Given the description of an element on the screen output the (x, y) to click on. 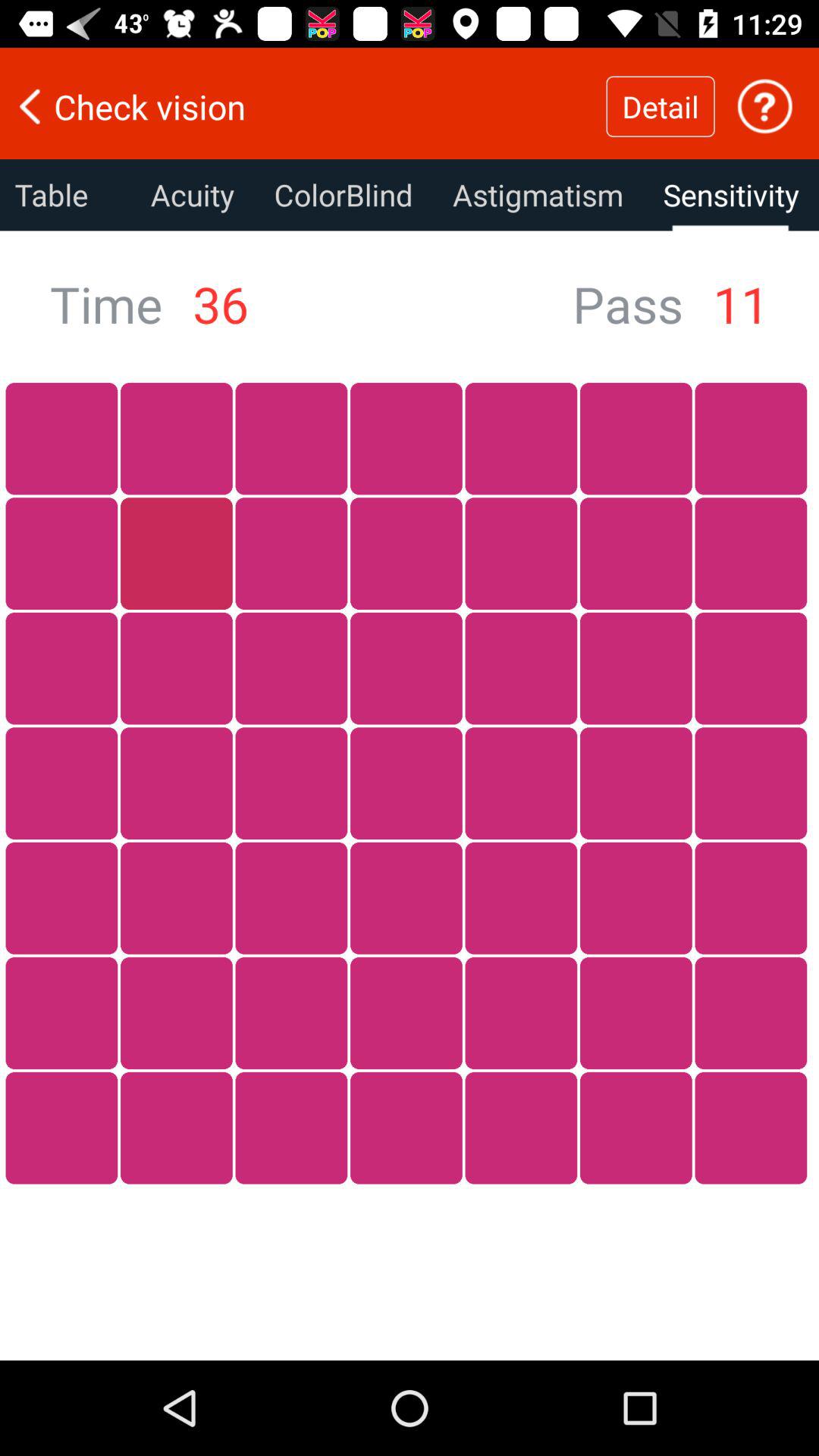
turn off the item next to the table item (192, 194)
